Given the description of an element on the screen output the (x, y) to click on. 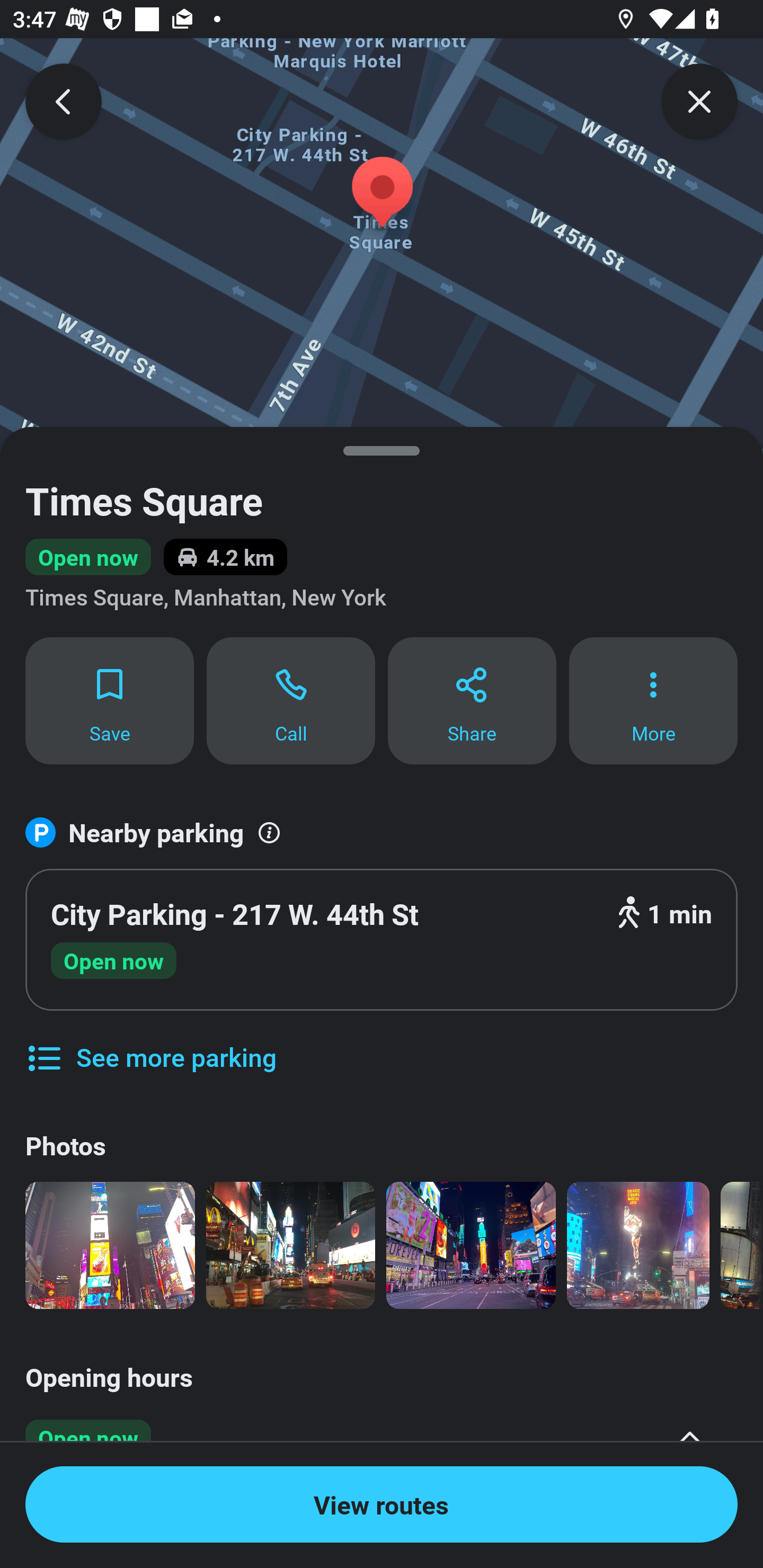
Save (109, 700)
Call (290, 700)
Share (471, 700)
More (653, 700)
City Parking - 217 W. 44th St 1 min Open now (381, 939)
See more parking (150, 1043)
View routes (381, 1504)
